Given the description of an element on the screen output the (x, y) to click on. 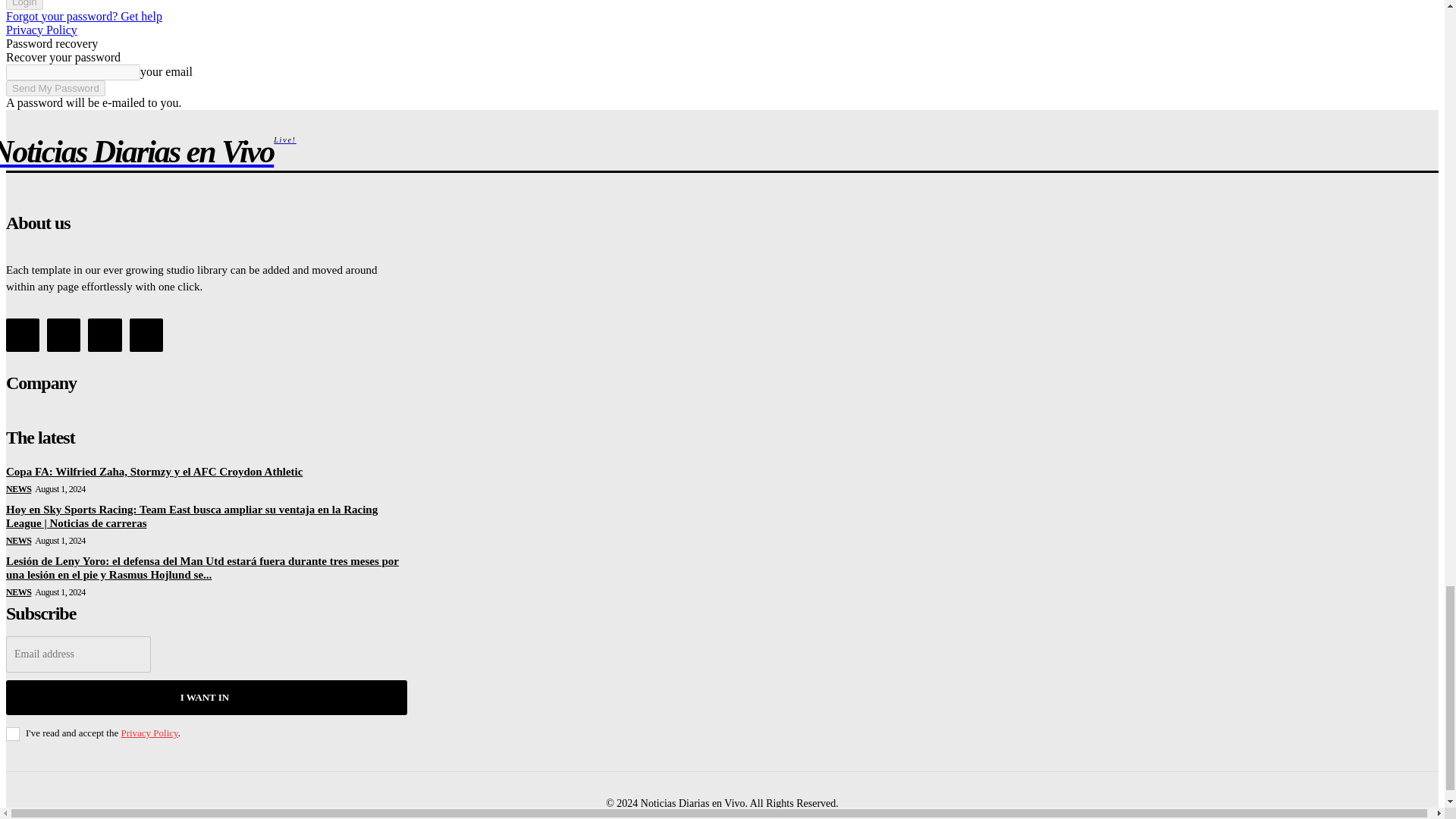
Send My Password (54, 87)
Login (24, 4)
